Given the description of an element on the screen output the (x, y) to click on. 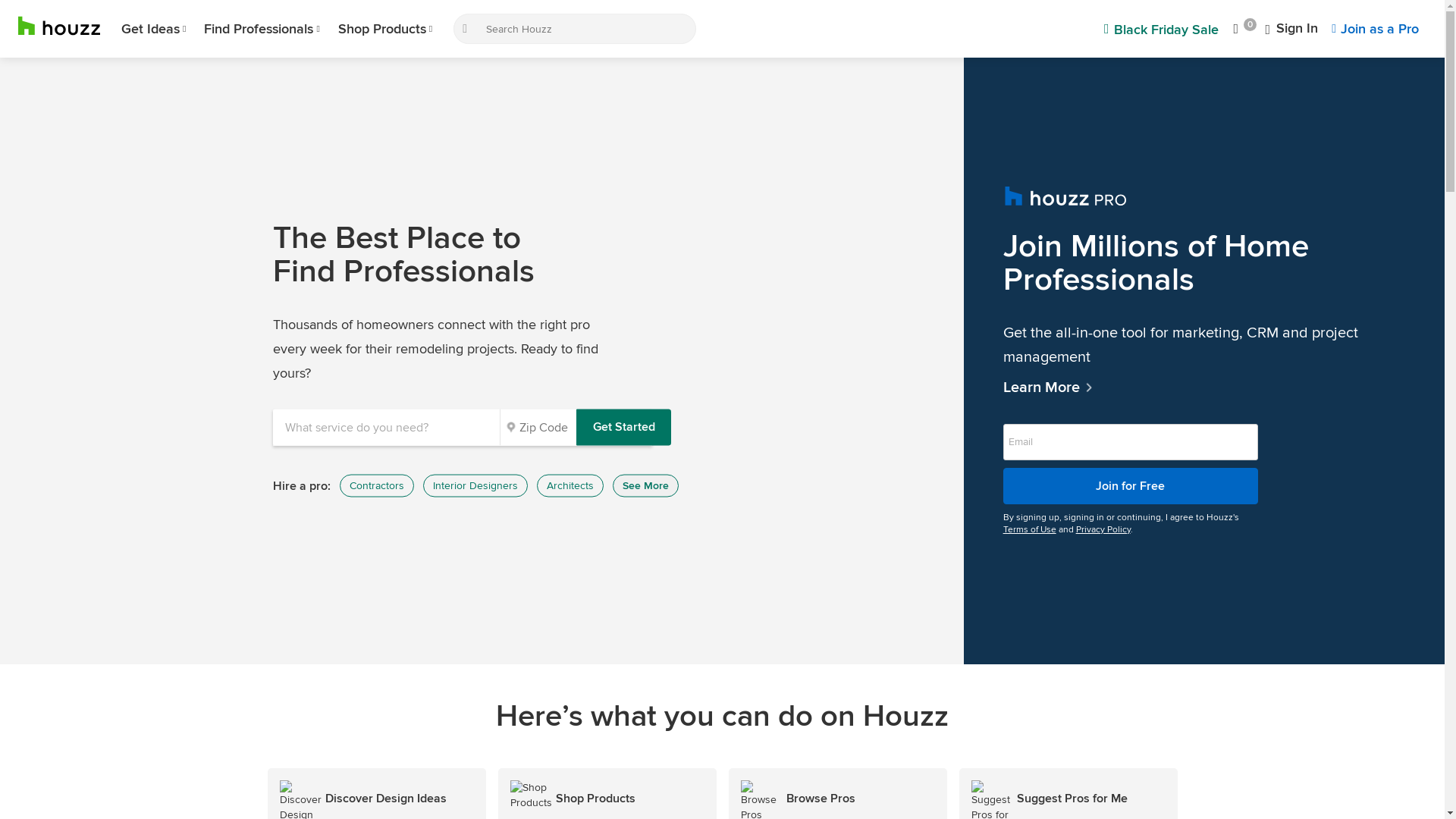
See More Element type: text (645, 485)
Sign In Element type: text (1291, 28)
Shop Products Element type: text (385, 28)
Learn More Element type: text (1204, 386)
Join for Free Element type: text (1130, 485)
0 Element type: text (1243, 28)
Get Started Element type: text (623, 427)
Terms of Use Element type: text (1029, 528)
Black Friday Sale Element type: text (1161, 28)
Privacy Policy Element type: text (1103, 528)
Get Ideas Element type: text (153, 28)
Join as a Pro Element type: text (1375, 27)
Find Professionals Element type: text (261, 28)
Architects Element type: text (569, 485)
Contractors Element type: text (376, 485)
Interior Designers Element type: text (475, 485)
